Given the description of an element on the screen output the (x, y) to click on. 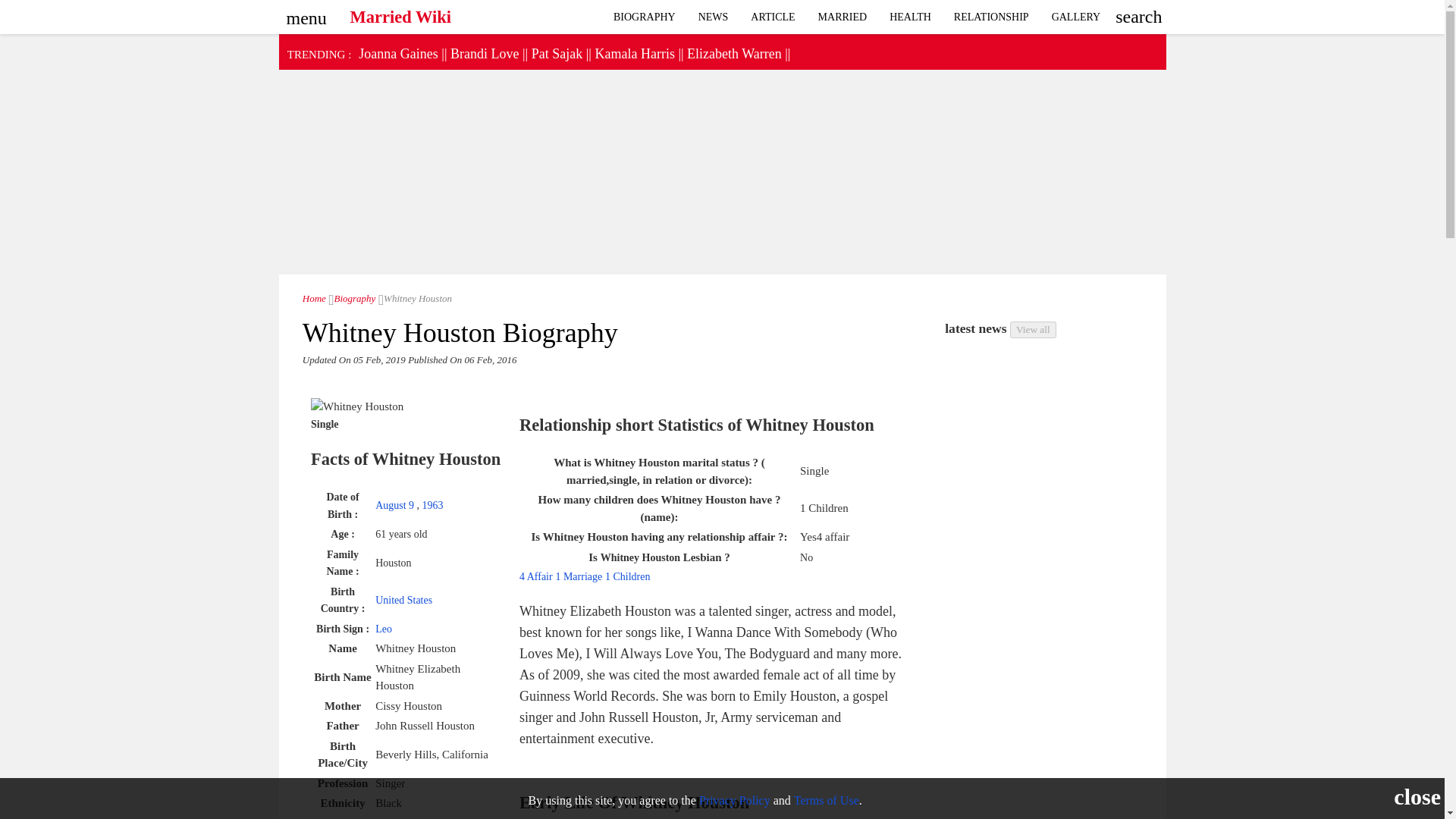
Terms of Use (826, 799)
Elizabeth Warren (734, 53)
HEALTH (909, 17)
Privacy Policy (734, 799)
Joanna Gaines (398, 53)
Pat Sajak (557, 53)
MARRIED (842, 17)
Pat Sajak (557, 53)
menu (302, 13)
relationship (1076, 17)
